Given the description of an element on the screen output the (x, y) to click on. 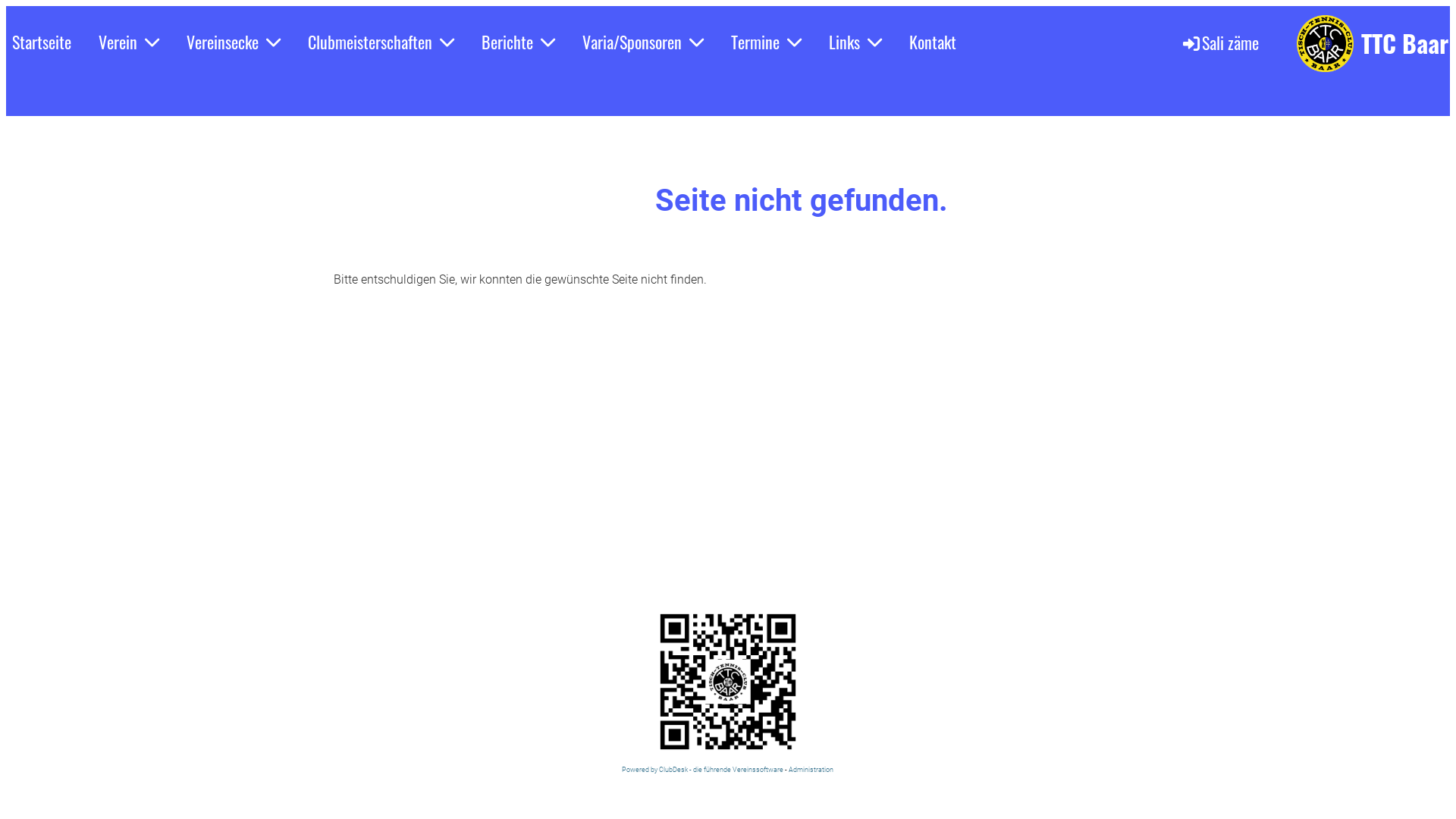
Startseite Element type: text (41, 41)
Clubmeisterschaften Element type: text (380, 41)
Kontakt Element type: text (932, 41)
Varia/Sponsoren Element type: text (642, 41)
TTC Baar Element type: text (1404, 42)
Vereinsecke Element type: text (233, 41)
Termine Element type: text (765, 41)
Administration Element type: text (810, 769)
Verein Element type: text (128, 41)
Links Element type: text (855, 41)
Berichte Element type: text (518, 41)
